Given the description of an element on the screen output the (x, y) to click on. 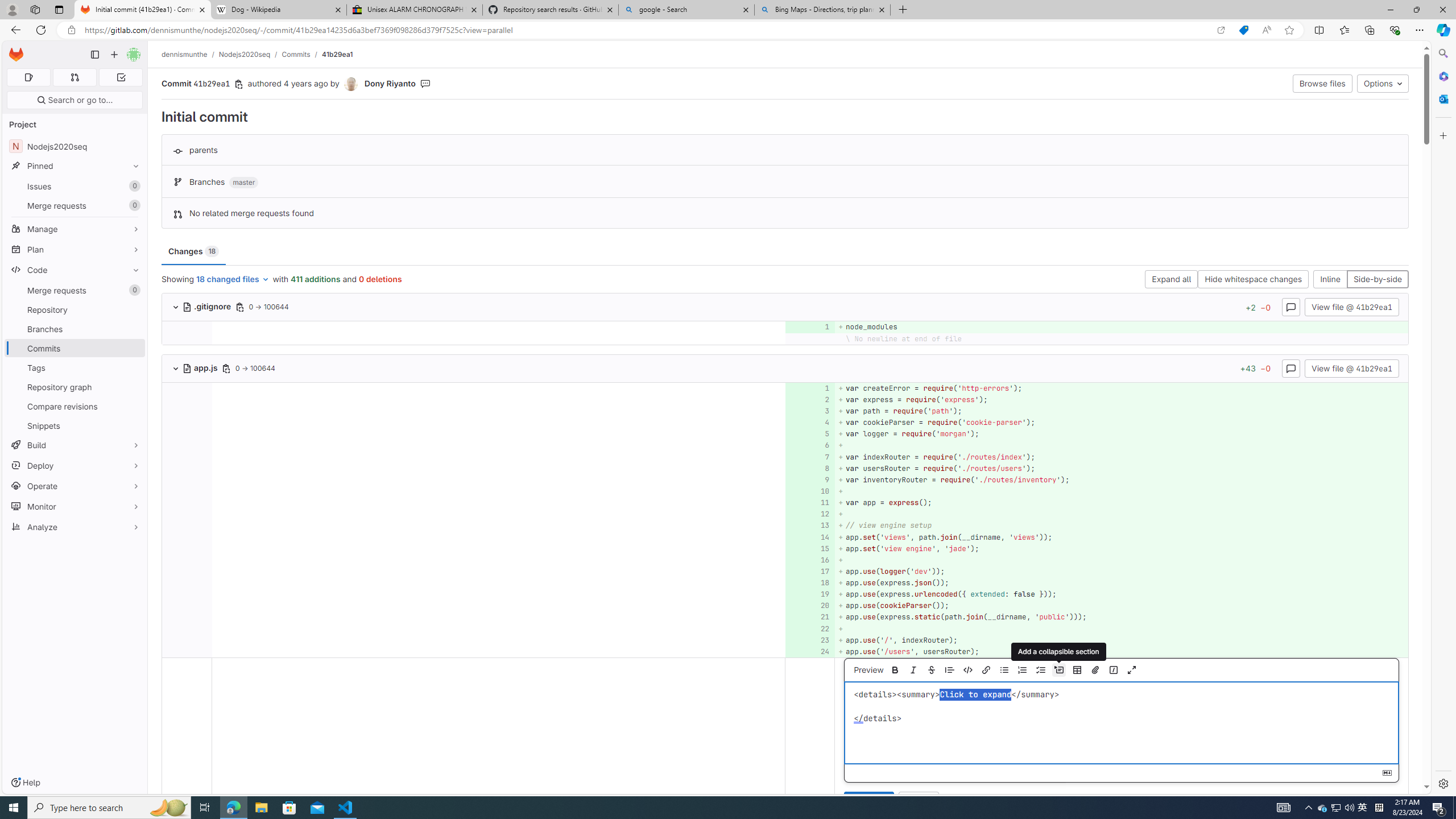
Operate (74, 485)
Class: old_line diff-line-num empty-cell (186, 651)
Cancel (918, 800)
Add a comment to this line 3 (809, 410)
